Given the description of an element on the screen output the (x, y) to click on. 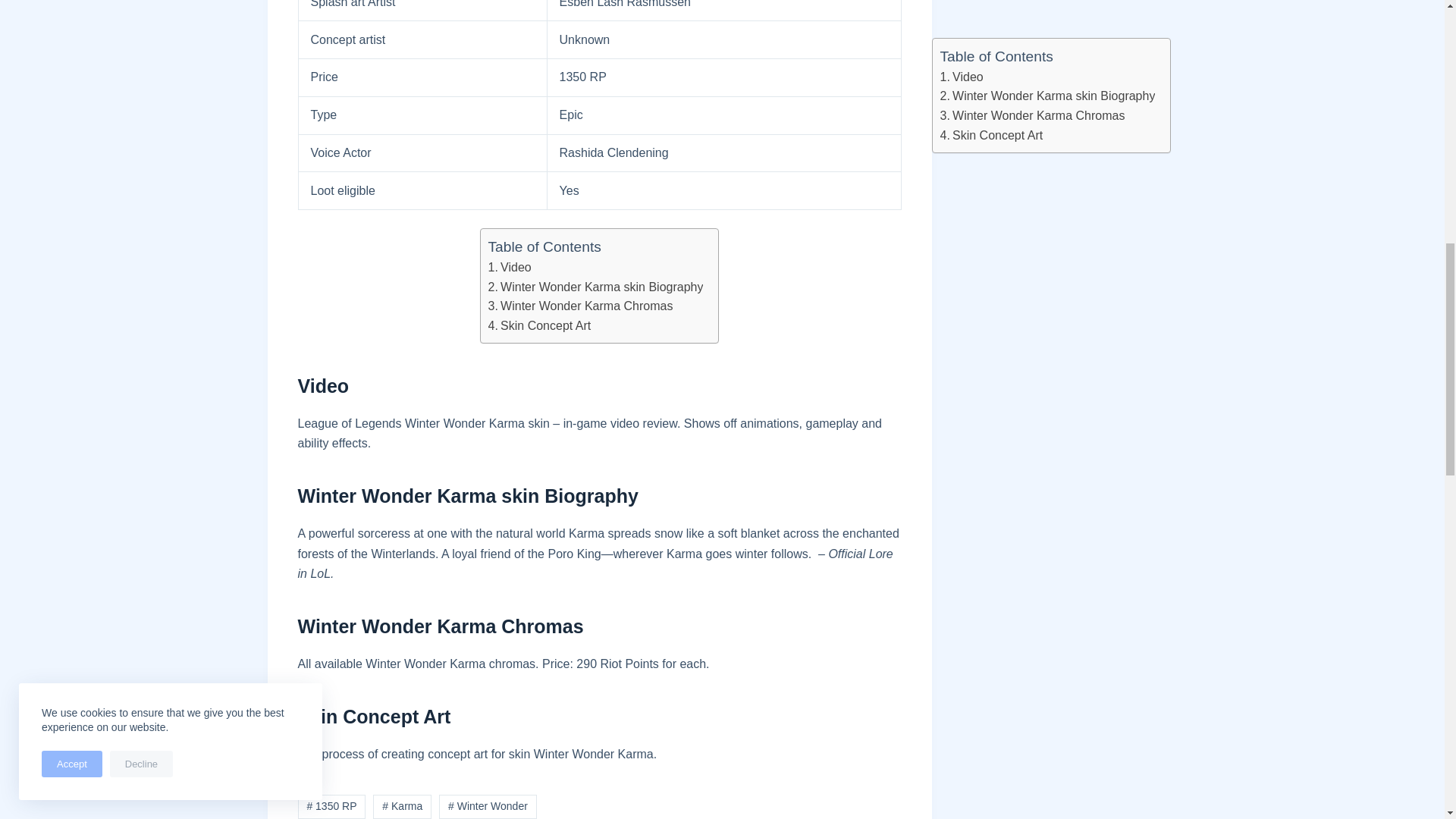
Winter Wonder Karma Chromas (579, 306)
Video (509, 267)
Winter Wonder Karma Chromas (579, 306)
Skin Concept Art (539, 325)
Skin Concept Art (539, 325)
Winter Wonder Karma skin Biography (595, 287)
Video (509, 267)
